Given the description of an element on the screen output the (x, y) to click on. 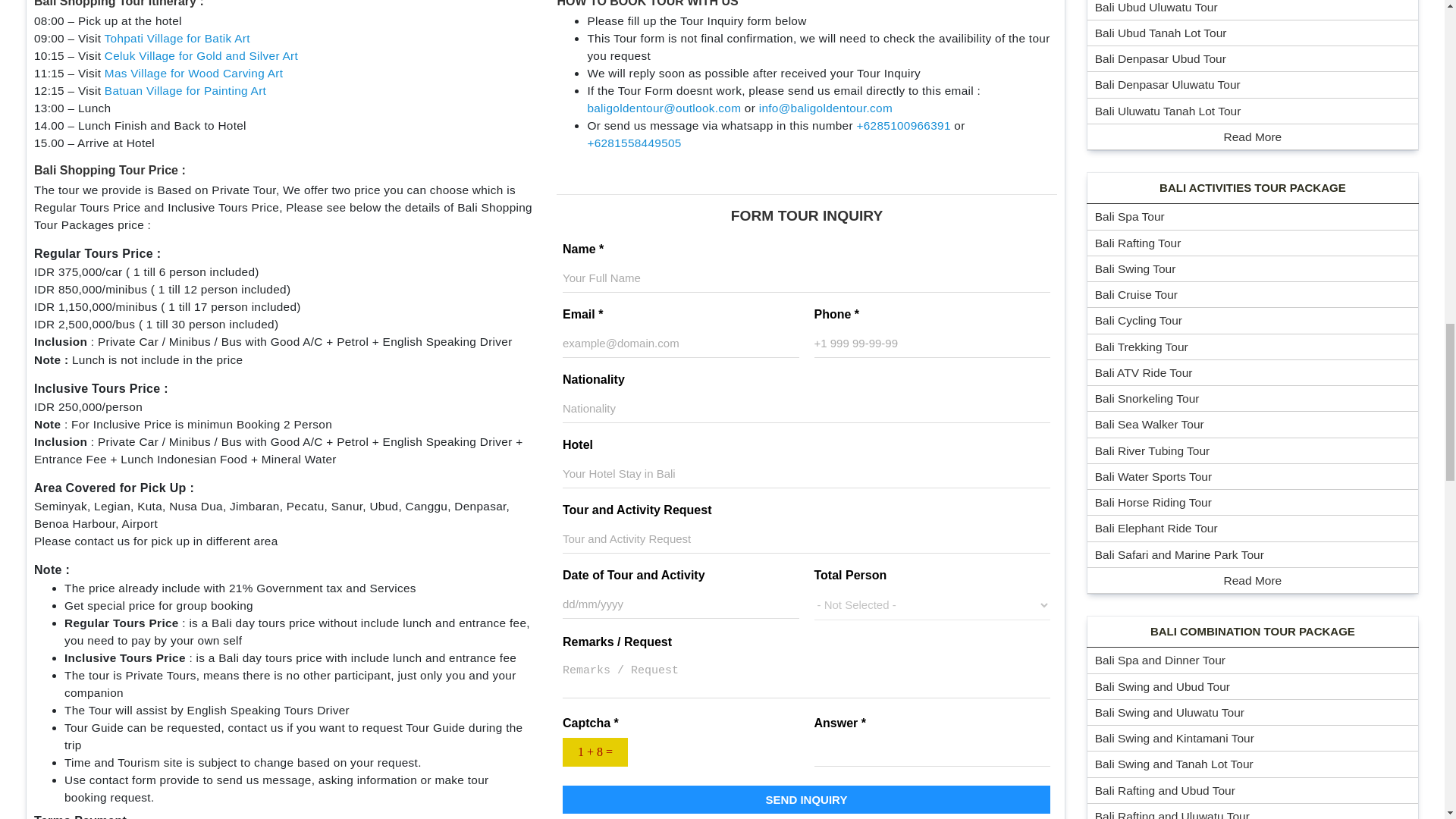
Mas Village for Wood Carving Art (193, 72)
Celuk Village for Gold and Silver Art (201, 55)
Tohpati Village for Batik Art (177, 38)
